Given the description of an element on the screen output the (x, y) to click on. 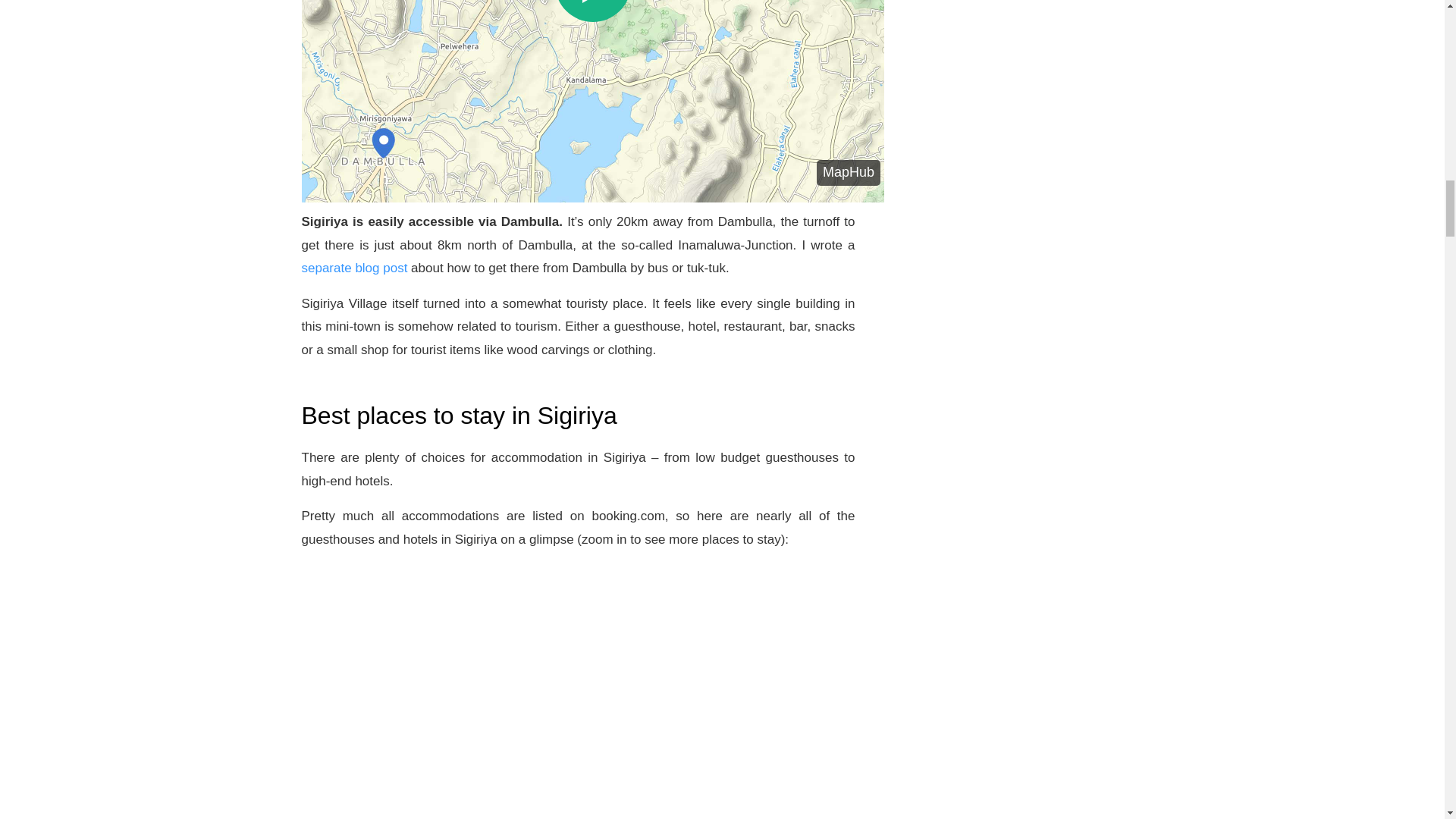
separate blog post (354, 268)
